Given the description of an element on the screen output the (x, y) to click on. 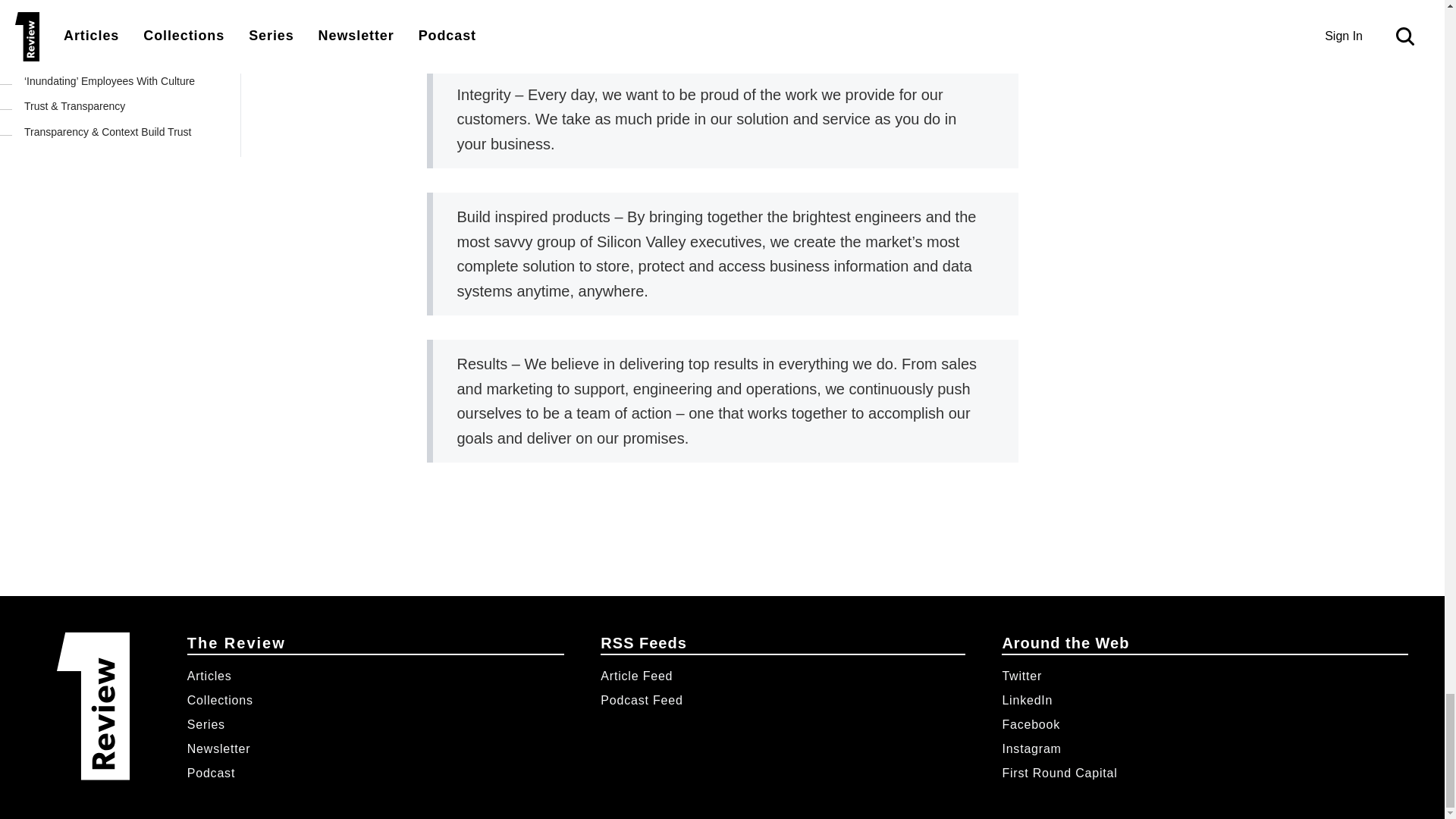
Article Feed (776, 676)
Series (206, 724)
Newsletter (218, 748)
Podcast (210, 772)
Collections (220, 699)
Articles (209, 675)
